Given the description of an element on the screen output the (x, y) to click on. 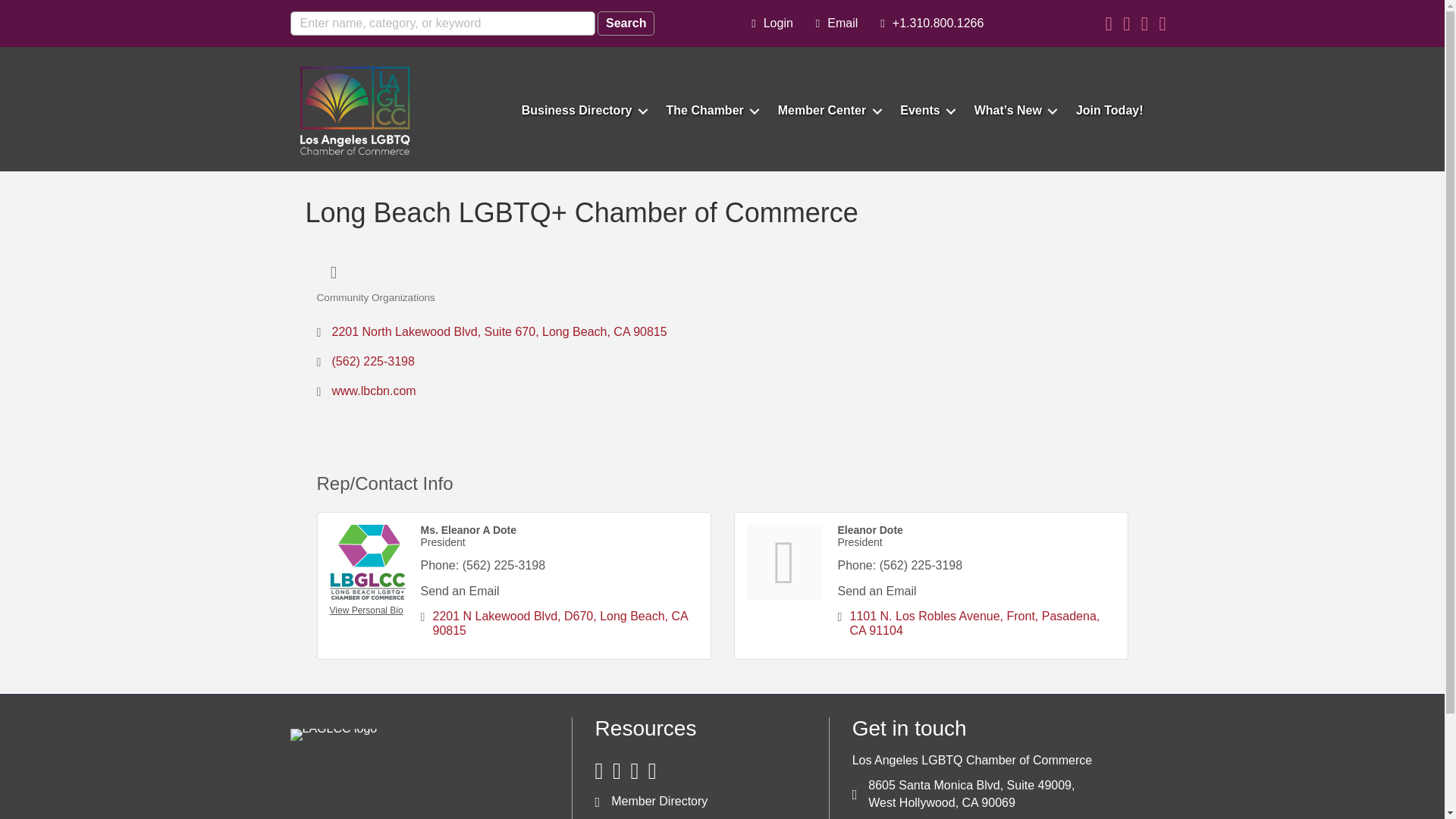
Business Directory (582, 111)
Join Today! (1109, 111)
Events (924, 111)
www.lbcbn.com (373, 391)
Search (624, 23)
Search (624, 23)
Member Center (827, 111)
Email (833, 22)
Search (624, 23)
2201 North Lakewood Blvd, Suite 670 Long Beach CA 90815 (498, 331)
